Given the description of an element on the screen output the (x, y) to click on. 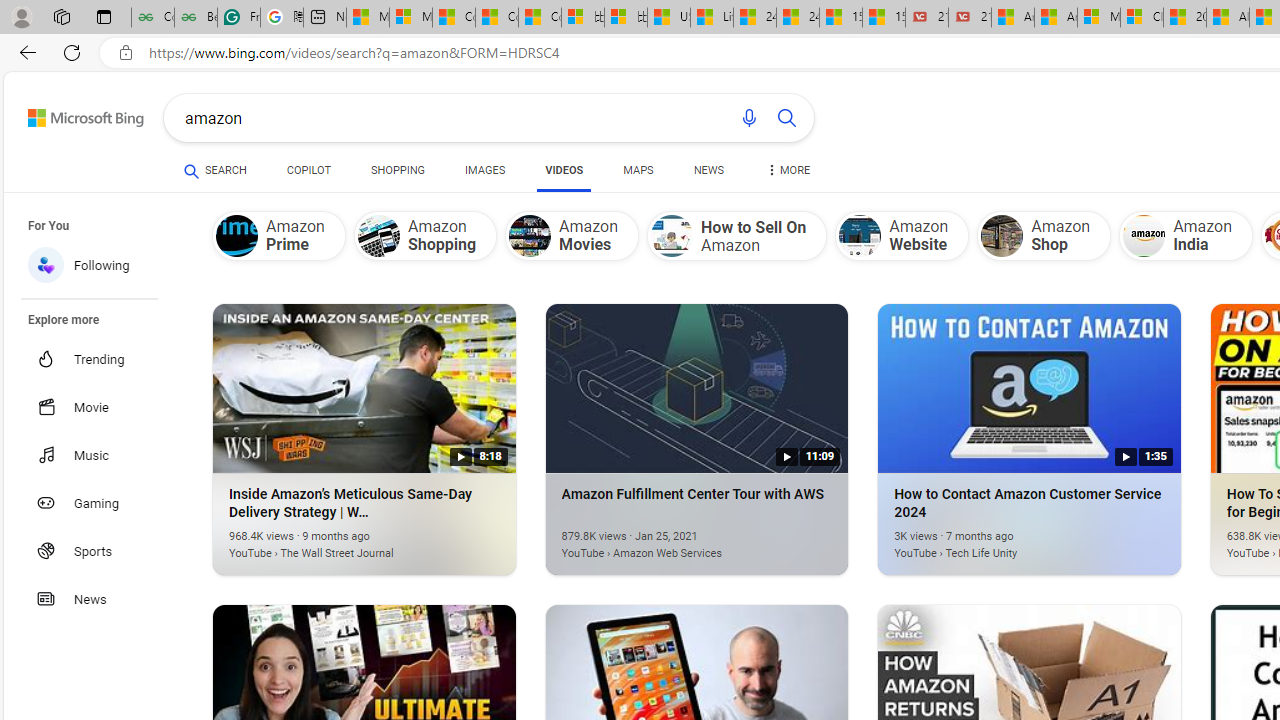
Dropdown Menu (787, 170)
How to Sell On Amazon (672, 236)
Lifestyle - MSN (712, 17)
Amazon Website (901, 235)
COPILOT (308, 170)
Trending (99, 359)
21 Movies That Outdid the Books They Were Based On (969, 17)
15 Ways Modern Life Contradicts the Teachings of Jesus (883, 17)
Search button (786, 117)
